Given the description of an element on the screen output the (x, y) to click on. 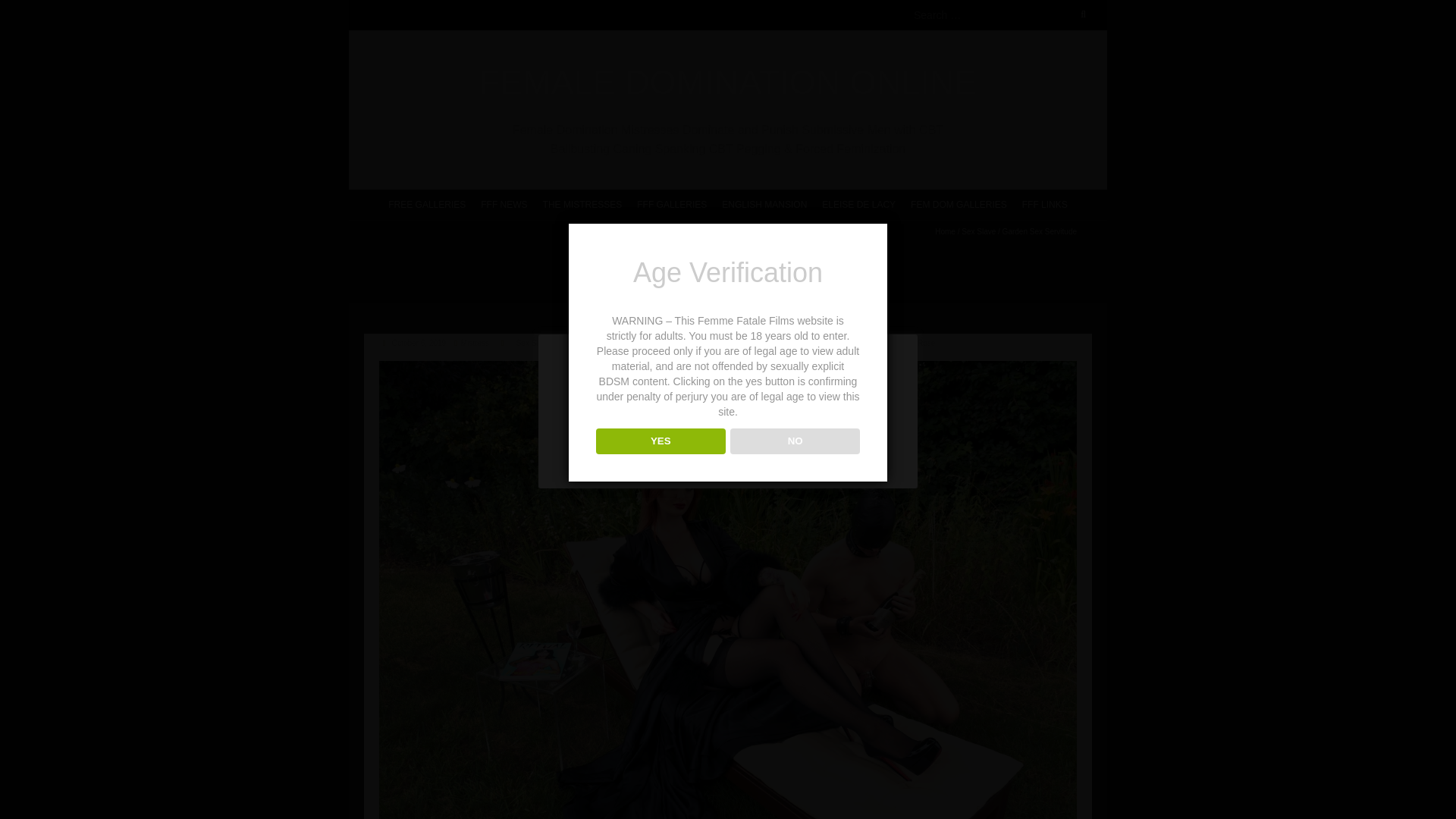
FFF NEWS (503, 203)
Category (502, 342)
Search (28, 9)
FFF GALLERIES (671, 203)
FEMALE DOMINATION ONLINE (727, 82)
Garden Sex Servitude (418, 343)
FREE GALLERIES (426, 203)
Garden Sex Servitude (727, 368)
View all posts by Mistress (475, 343)
THE MISTRESSES (582, 203)
Female Domination Online  (727, 82)
